Given the description of an element on the screen output the (x, y) to click on. 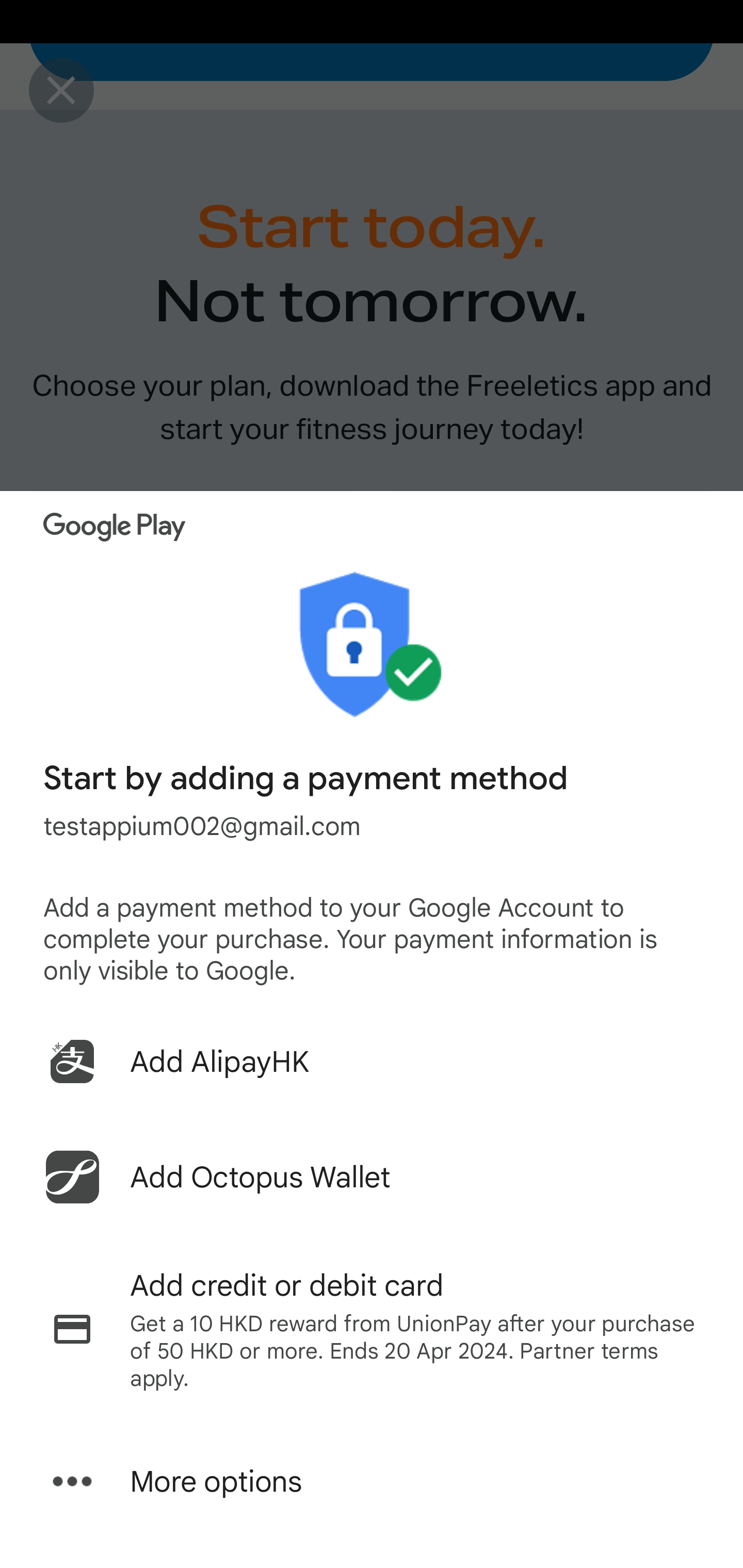
Add AlipayHK (371, 1061)
Add Octopus Wallet (371, 1177)
More options (371, 1481)
